Given the description of an element on the screen output the (x, y) to click on. 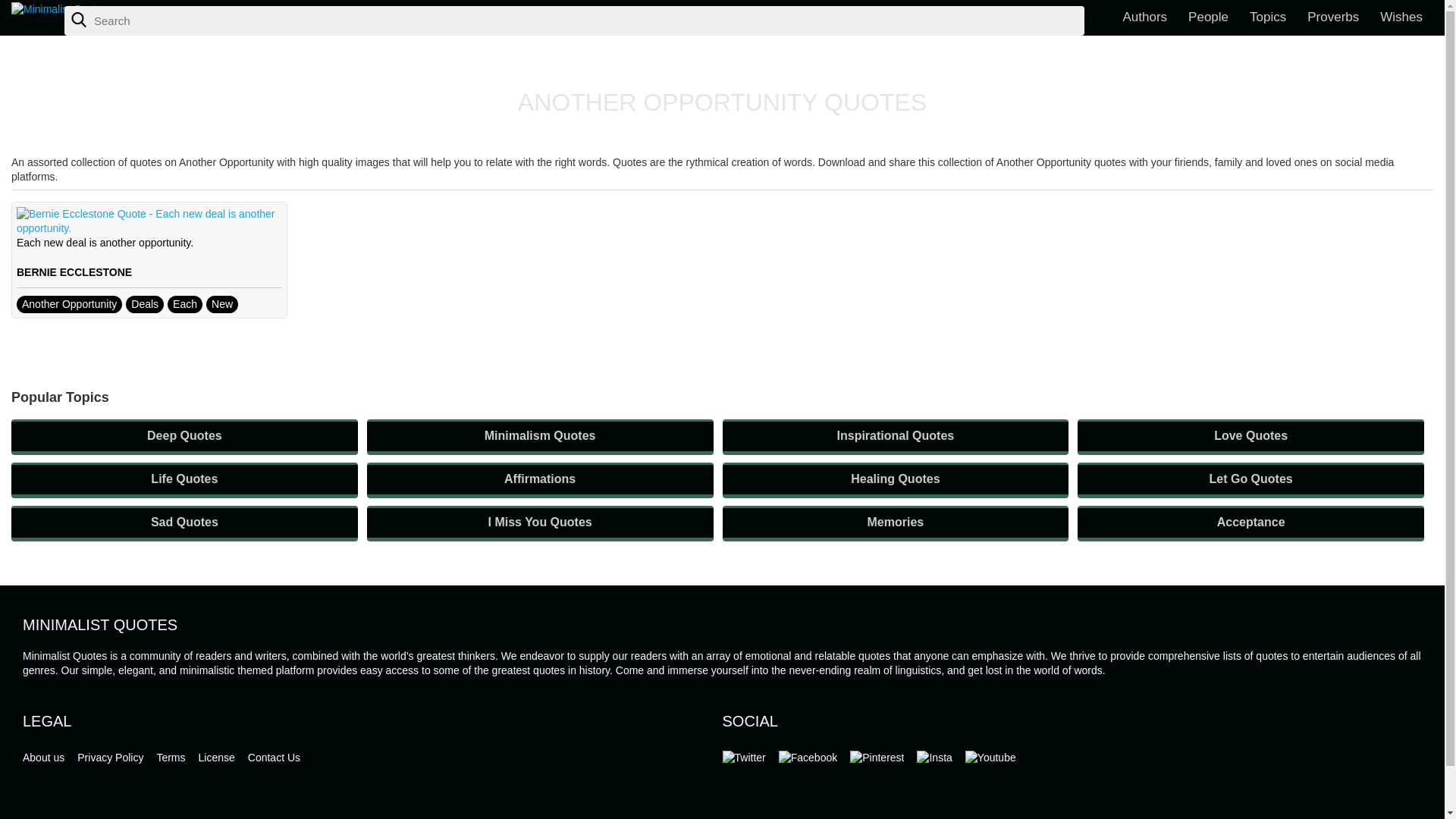
License (216, 757)
Contact Us (273, 757)
Follow Us on Twitter! (743, 757)
New (222, 303)
Topics (1268, 18)
BERNIE ECCLESTONE (74, 272)
I Miss You Quotes (539, 523)
Inspirational Quotes (895, 437)
Pinterest (877, 757)
Privacy Policy (109, 757)
